Given the description of an element on the screen output the (x, y) to click on. 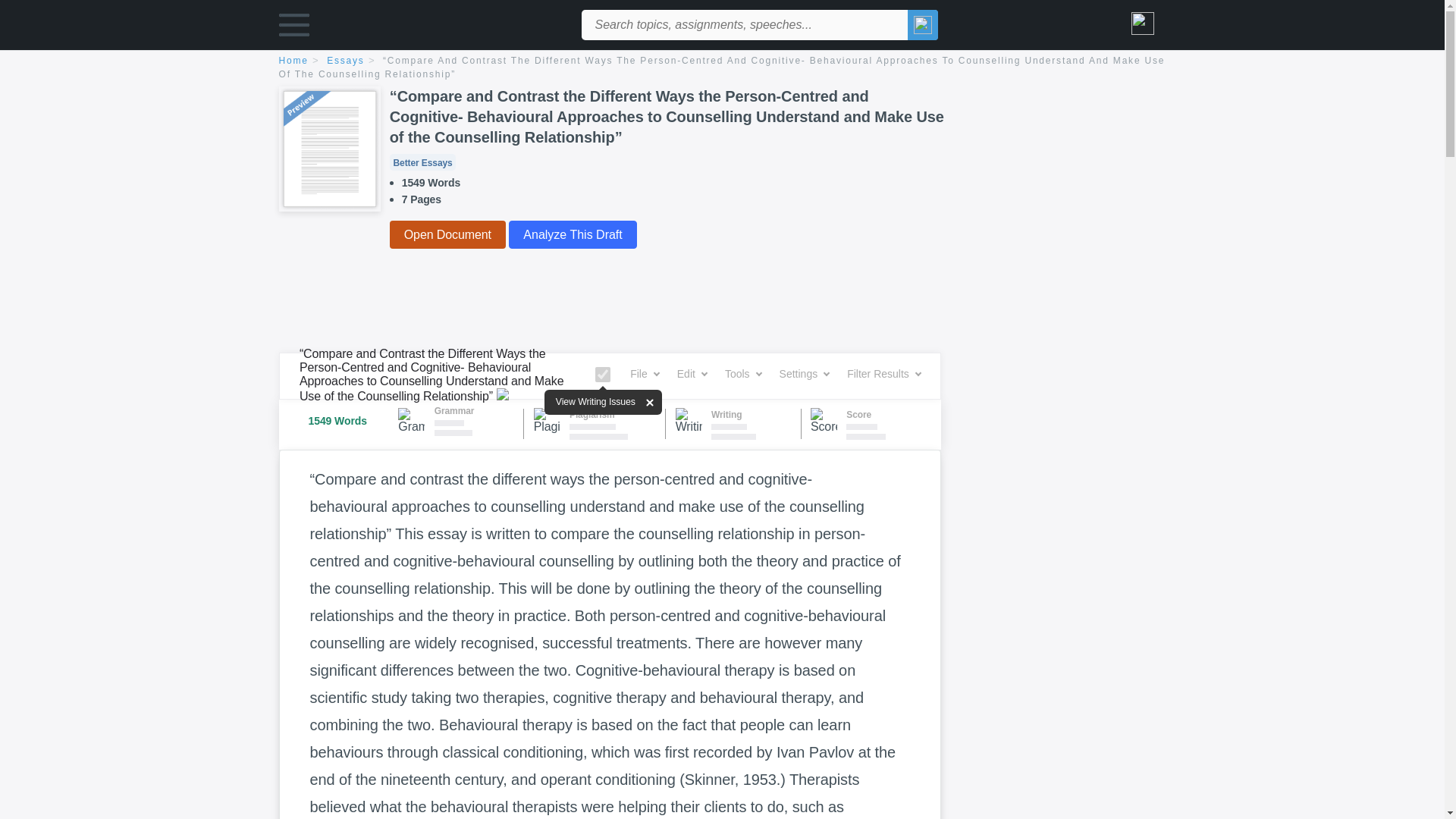
Edit (691, 374)
on (602, 374)
Open Document (447, 234)
Essays (353, 60)
Home (301, 60)
studymode logo (456, 24)
Tools (743, 374)
File (644, 374)
Filter Results (883, 374)
Settings (803, 374)
